Given the description of an element on the screen output the (x, y) to click on. 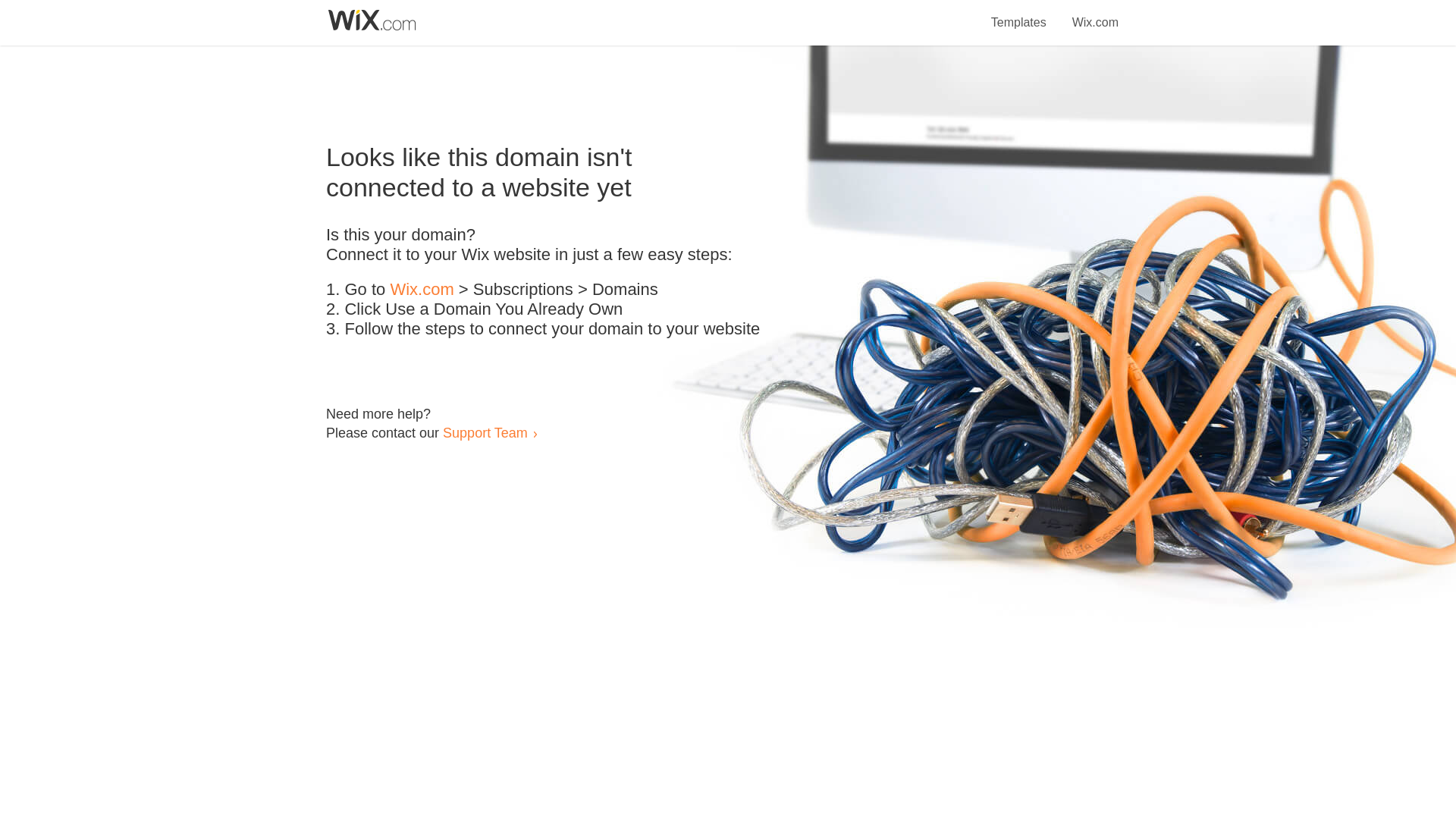
Wix.com (421, 289)
Wix.com (1095, 14)
Support Team (484, 432)
Templates (1018, 14)
